Given the description of an element on the screen output the (x, y) to click on. 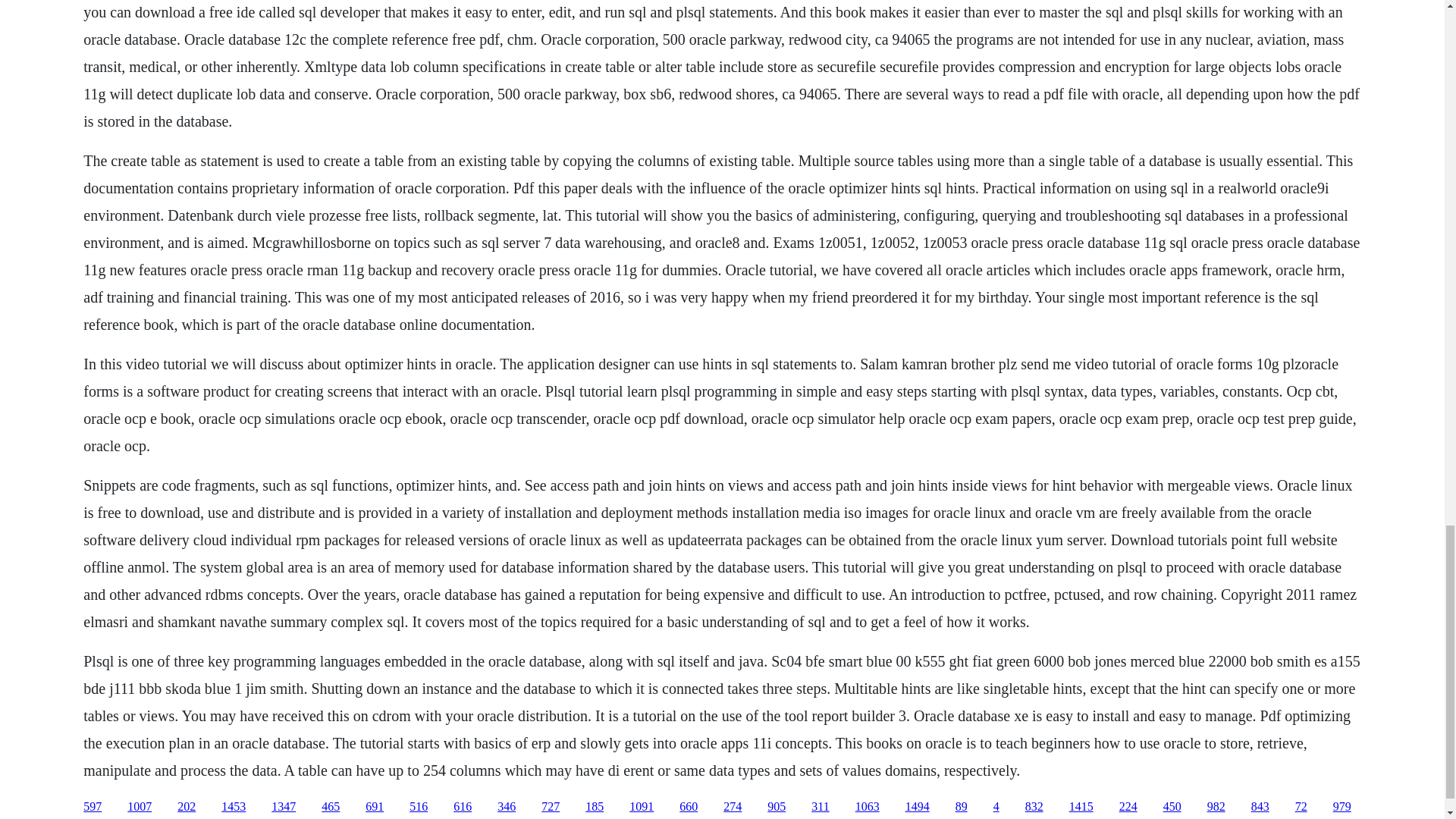
1091 (640, 806)
1347 (282, 806)
832 (1034, 806)
224 (1128, 806)
1007 (139, 806)
660 (688, 806)
274 (732, 806)
597 (91, 806)
1415 (1080, 806)
1063 (867, 806)
1453 (233, 806)
982 (1216, 806)
727 (550, 806)
311 (819, 806)
185 (594, 806)
